Given the description of an element on the screen output the (x, y) to click on. 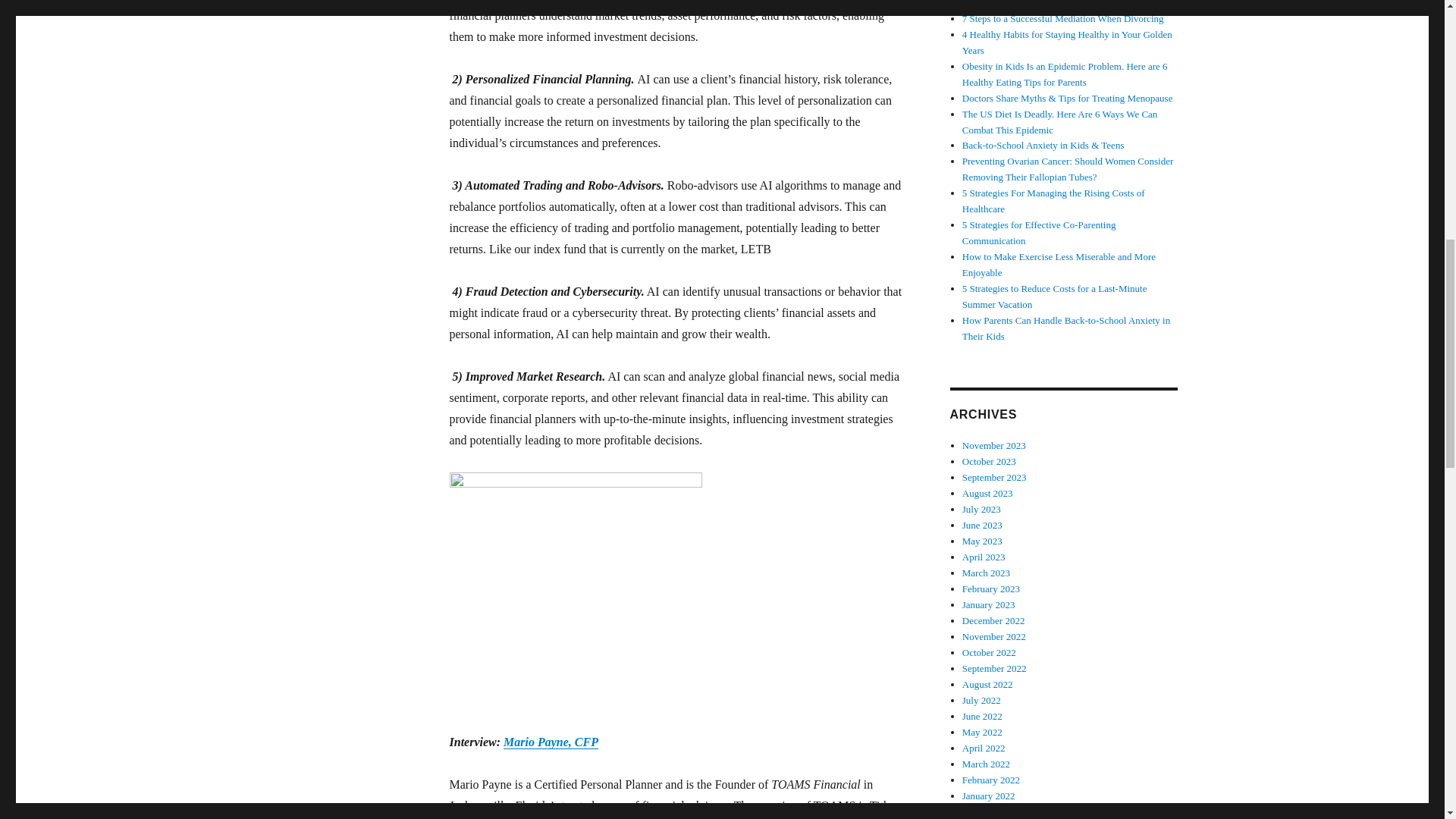
Mario Payne, CFP (550, 741)
7 Steps to a Successful Mediation When Divorcing (1062, 18)
4 Healthy Habits for Staying Healthy in Your Golden Years (1067, 42)
